Given the description of an element on the screen output the (x, y) to click on. 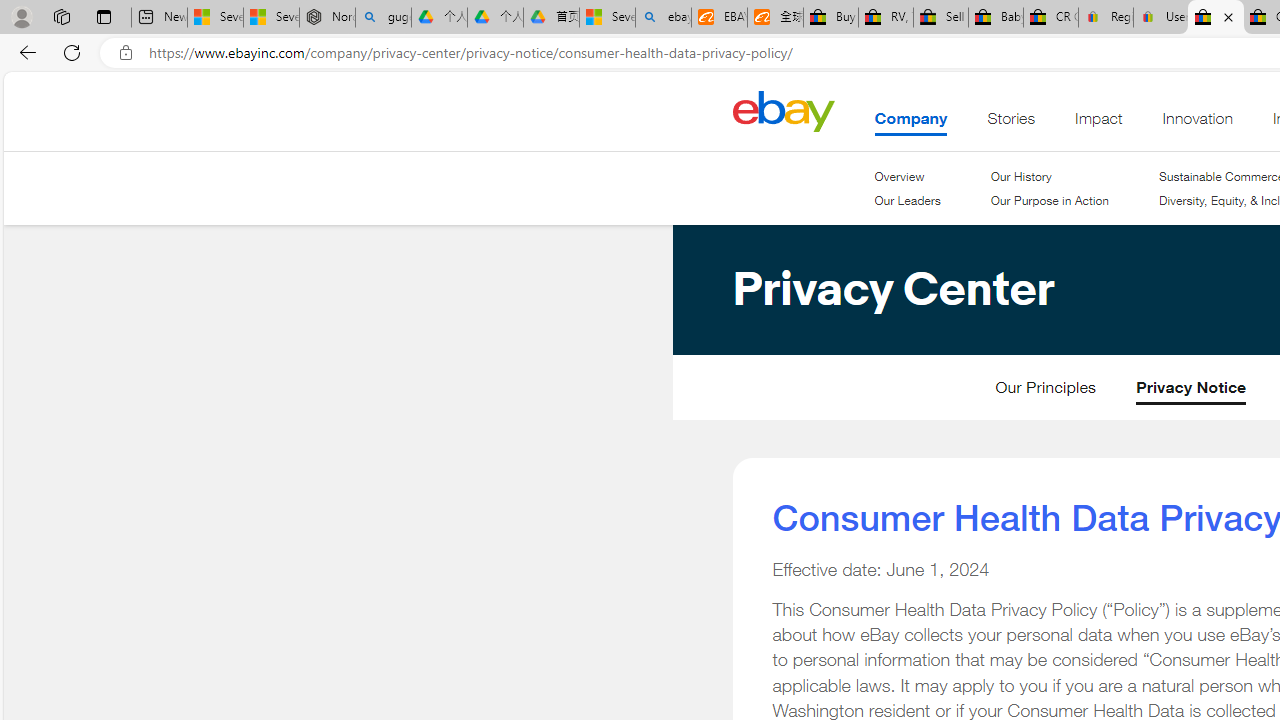
Our Purpose in Action (1048, 201)
Our Purpose in Action (1048, 200)
Our History (1048, 176)
Stories (1010, 123)
Innovation (1197, 123)
guge yunpan - Search (382, 17)
Consumer Health Data Privacy Policy - eBay Inc. (1215, 17)
Our Leaders (907, 201)
Sell worldwide with eBay (940, 17)
Our Leaders (907, 200)
